Given the description of an element on the screen output the (x, y) to click on. 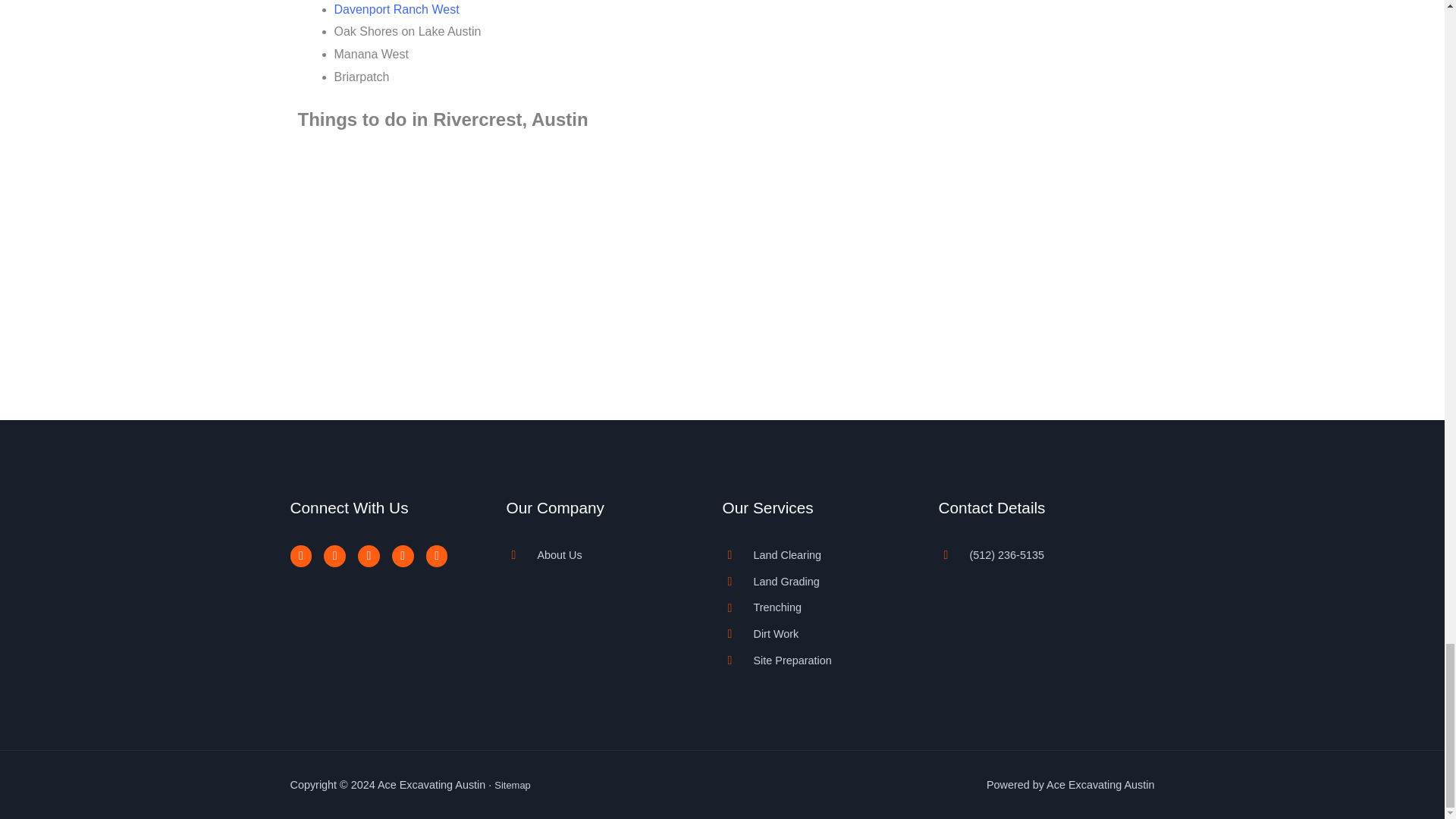
Davenport Ranch West (395, 9)
